Given the description of an element on the screen output the (x, y) to click on. 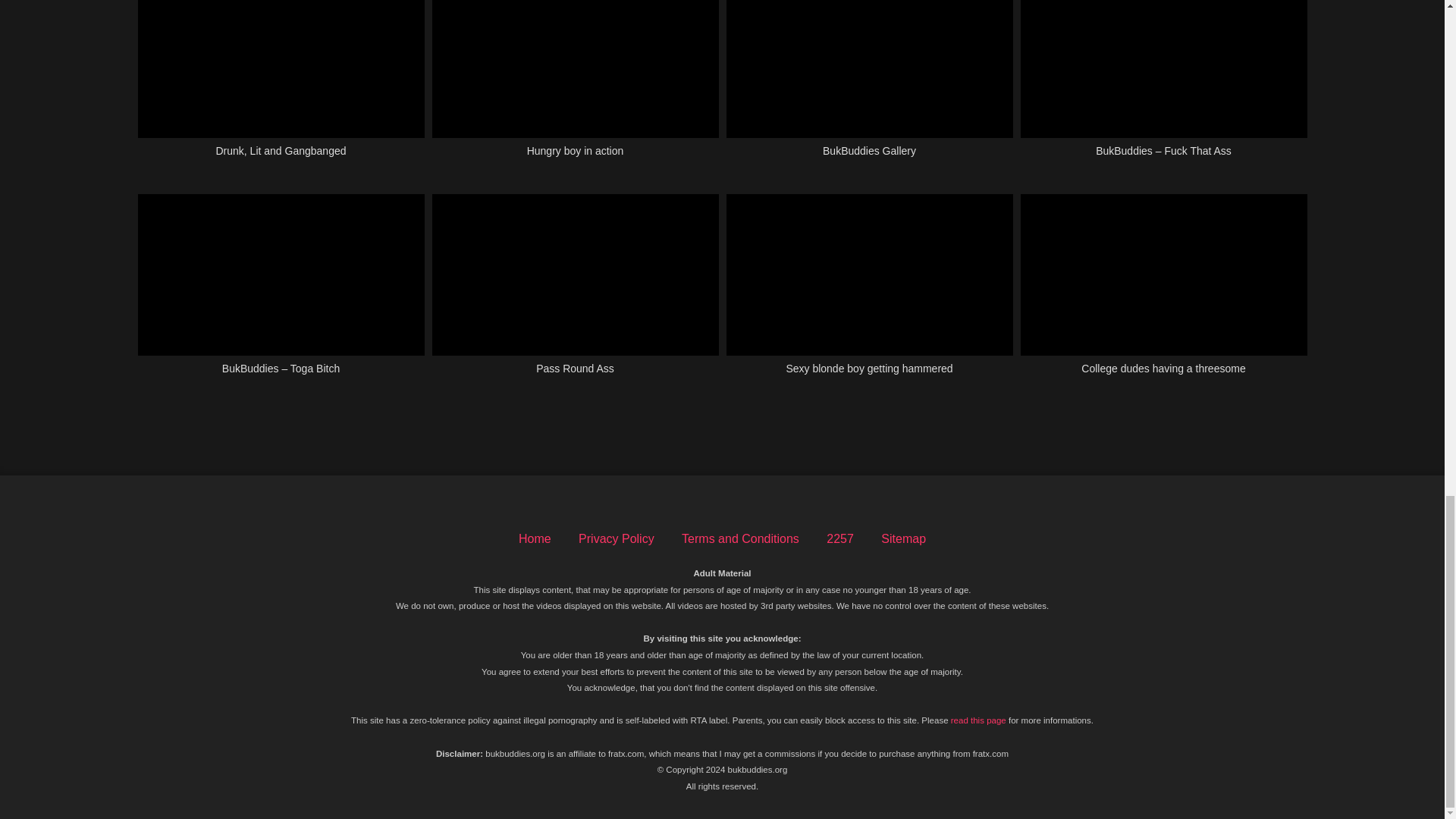
Home (534, 538)
Sexy blonde boy getting hammered (869, 293)
Privacy Policy (615, 538)
BukBuddies Gallery (869, 87)
Pass Round Ass (575, 293)
Hungry boy in action (575, 87)
Sexy blonde boy getting hammered (869, 293)
BukBuddies Gallery (869, 87)
read this page (978, 719)
Pass Round Ass (575, 293)
College dudes having a threesome (1163, 293)
Terms and Conditions (740, 538)
Drunk, Lit and Gangbanged (281, 87)
College dudes having a threesome (1163, 293)
2257 (840, 538)
